Given the description of an element on the screen output the (x, y) to click on. 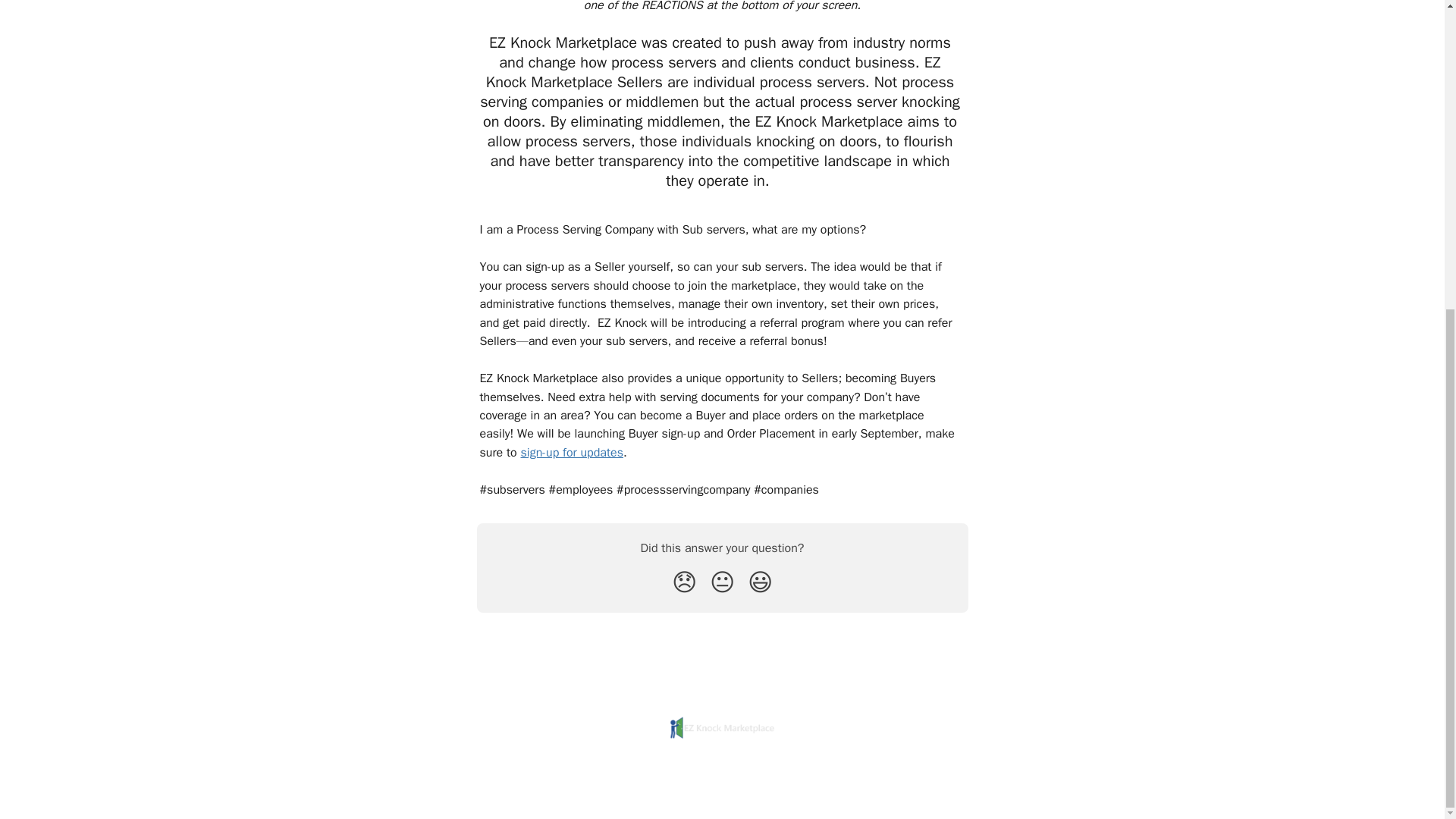
sign-up for updates (571, 452)
Disappointed (684, 582)
Neutral (722, 582)
Smiley (760, 582)
